Given the description of an element on the screen output the (x, y) to click on. 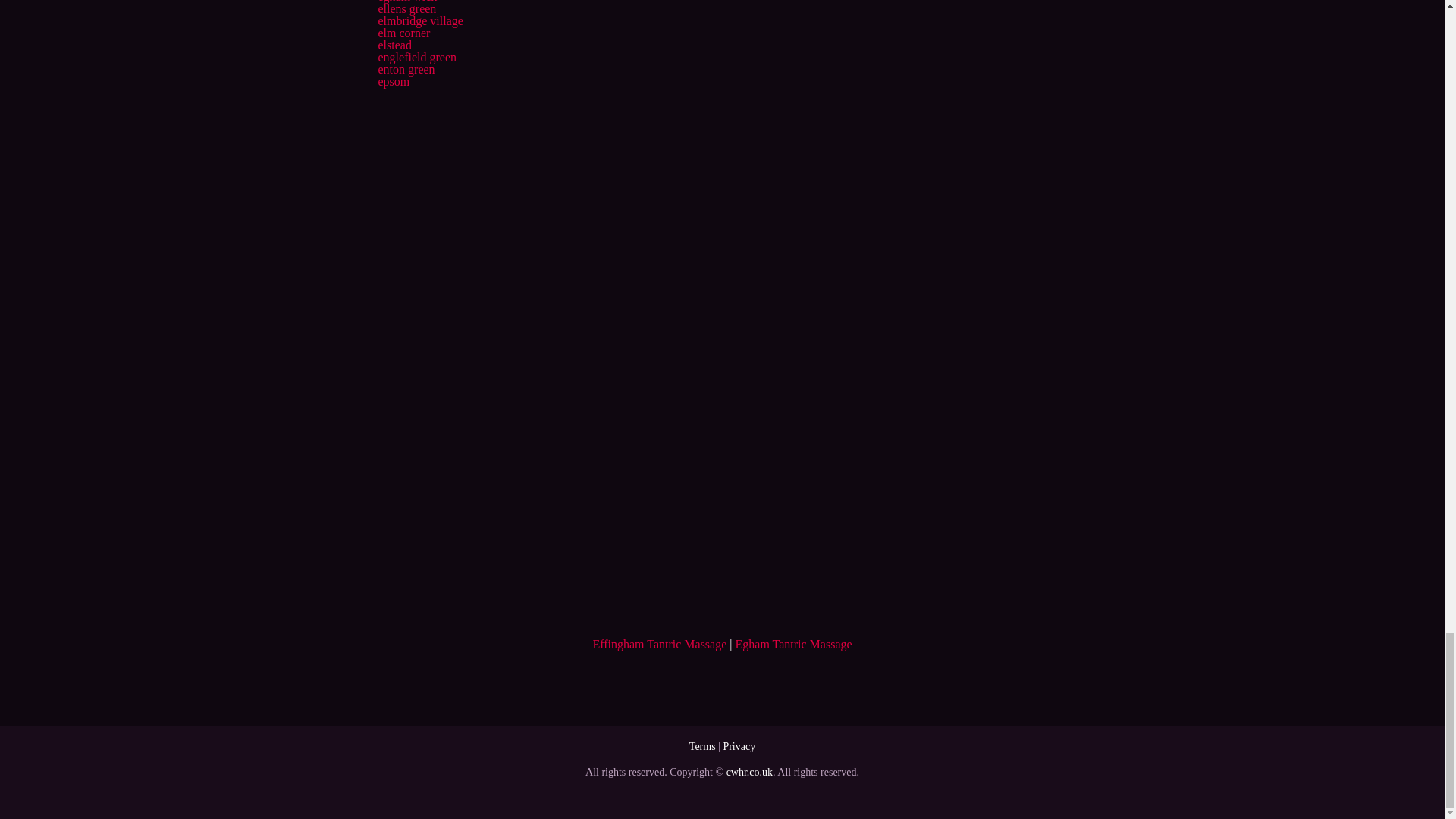
Privacy (738, 746)
egham wick (406, 1)
Egham Tantric Massage (793, 644)
englefield green (417, 56)
Privacy (738, 746)
ellens green (406, 8)
cwhr.co.uk (749, 772)
Terms (702, 746)
Terms (702, 746)
elstead (393, 44)
elmbridge village (420, 20)
Effingham Tantric Massage (659, 644)
elm corner (403, 32)
epsom (393, 81)
enton green (405, 69)
